Given the description of an element on the screen output the (x, y) to click on. 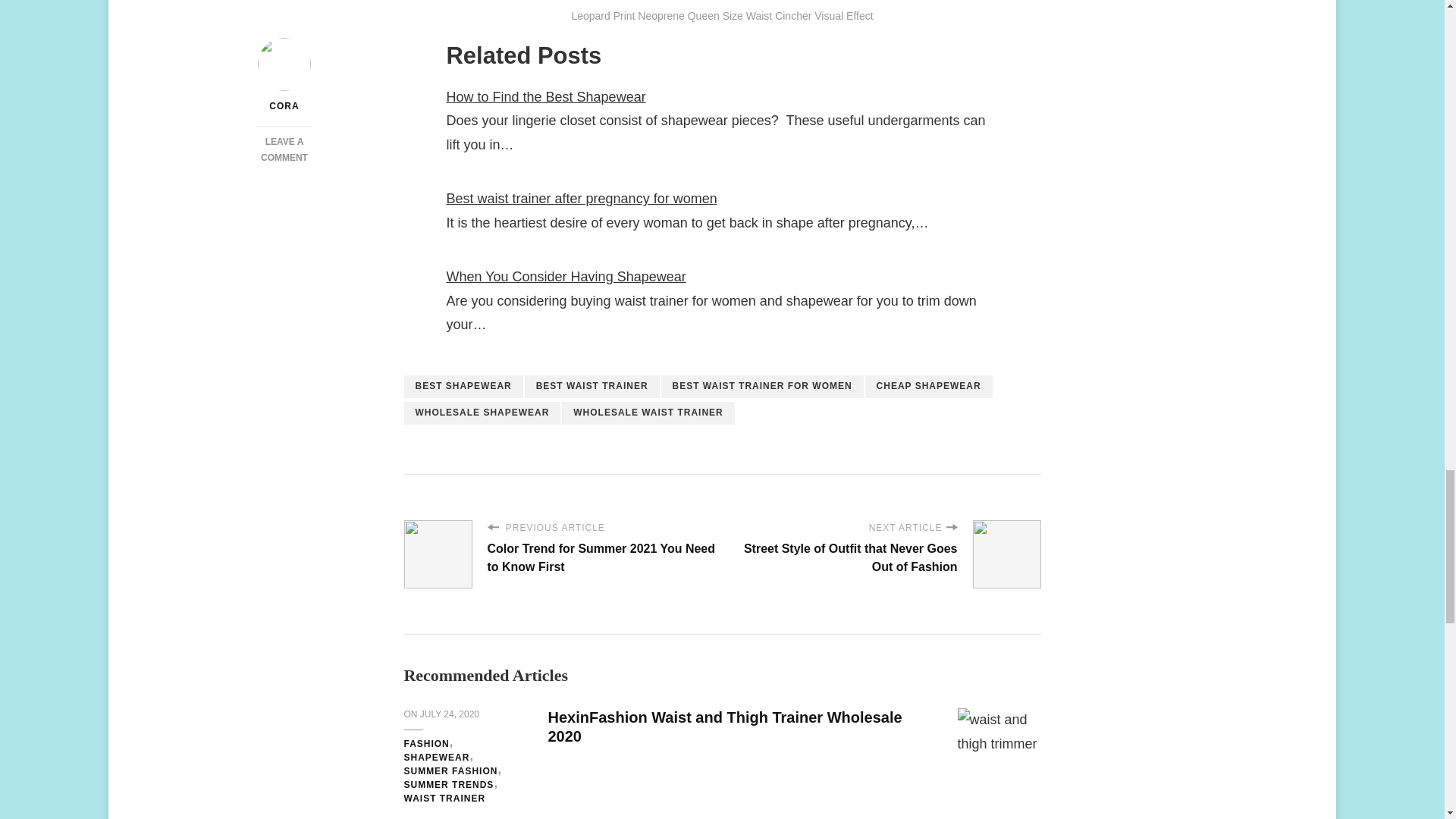
WHOLESALE WAIST TRAINER (647, 413)
How to Find the Best Shapewear (545, 96)
When You Consider Having Shapewear (565, 276)
JULY 24, 2020 (449, 714)
BEST WAIST TRAINER FOR WOMEN (762, 386)
Best waist trainer after pregnancy for women (580, 198)
BEST SHAPEWEAR (462, 386)
CHEAP SHAPEWEAR (928, 386)
BEST WAIST TRAINER (591, 386)
WHOLESALE SHAPEWEAR (481, 413)
